Given the description of an element on the screen output the (x, y) to click on. 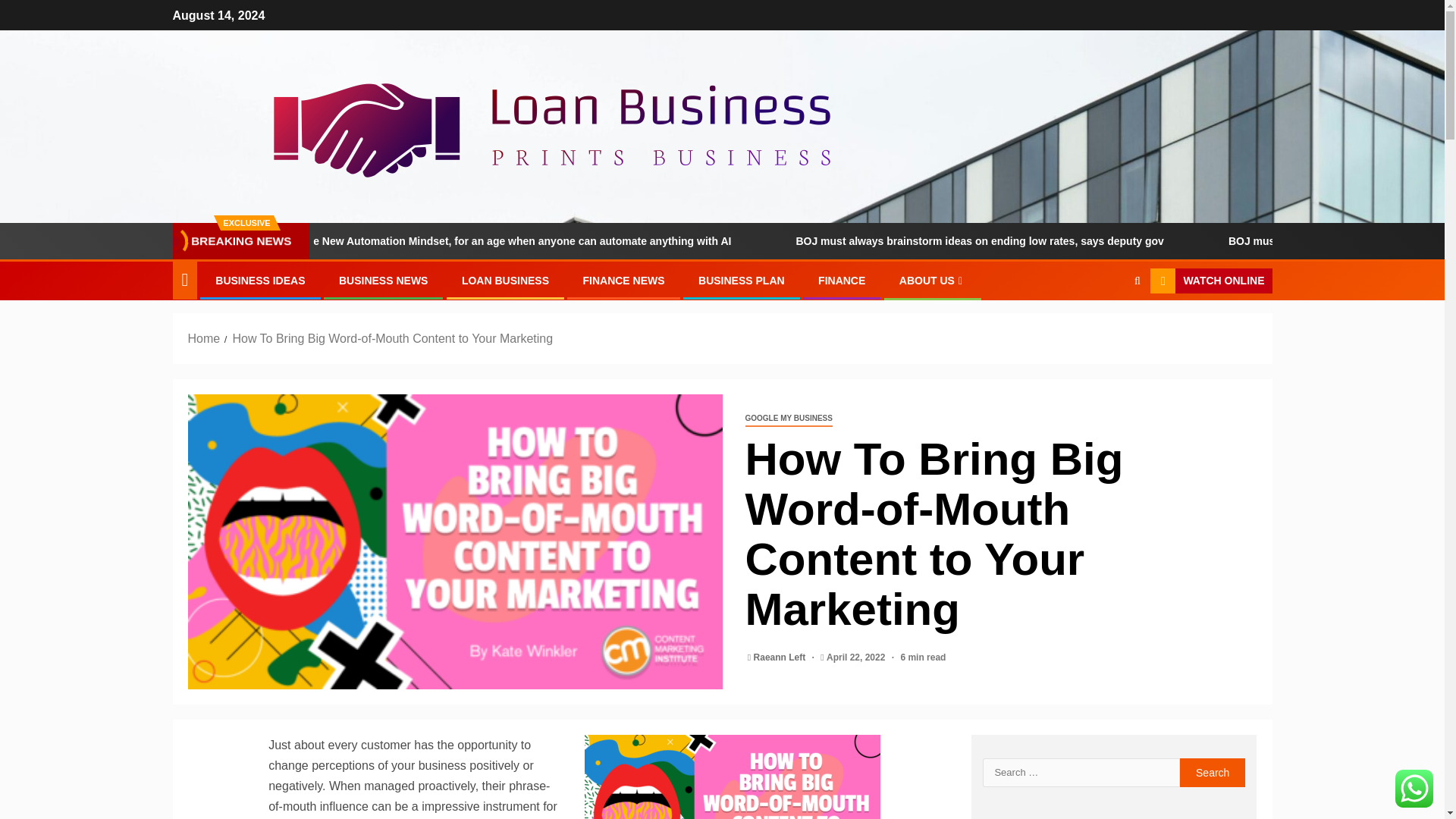
GOOGLE MY BUSINESS (787, 418)
How To Bring Big Word-of-Mouth Content to Your Marketing (392, 338)
How To Bring Big Word-of-Mouth Content to Your Marketing (732, 776)
FINANCE NEWS (622, 280)
WATCH ONLINE (1210, 281)
BUSINESS PLAN (741, 280)
BUSINESS IDEAS (259, 280)
Home (204, 338)
Search (1212, 772)
